Given the description of an element on the screen output the (x, y) to click on. 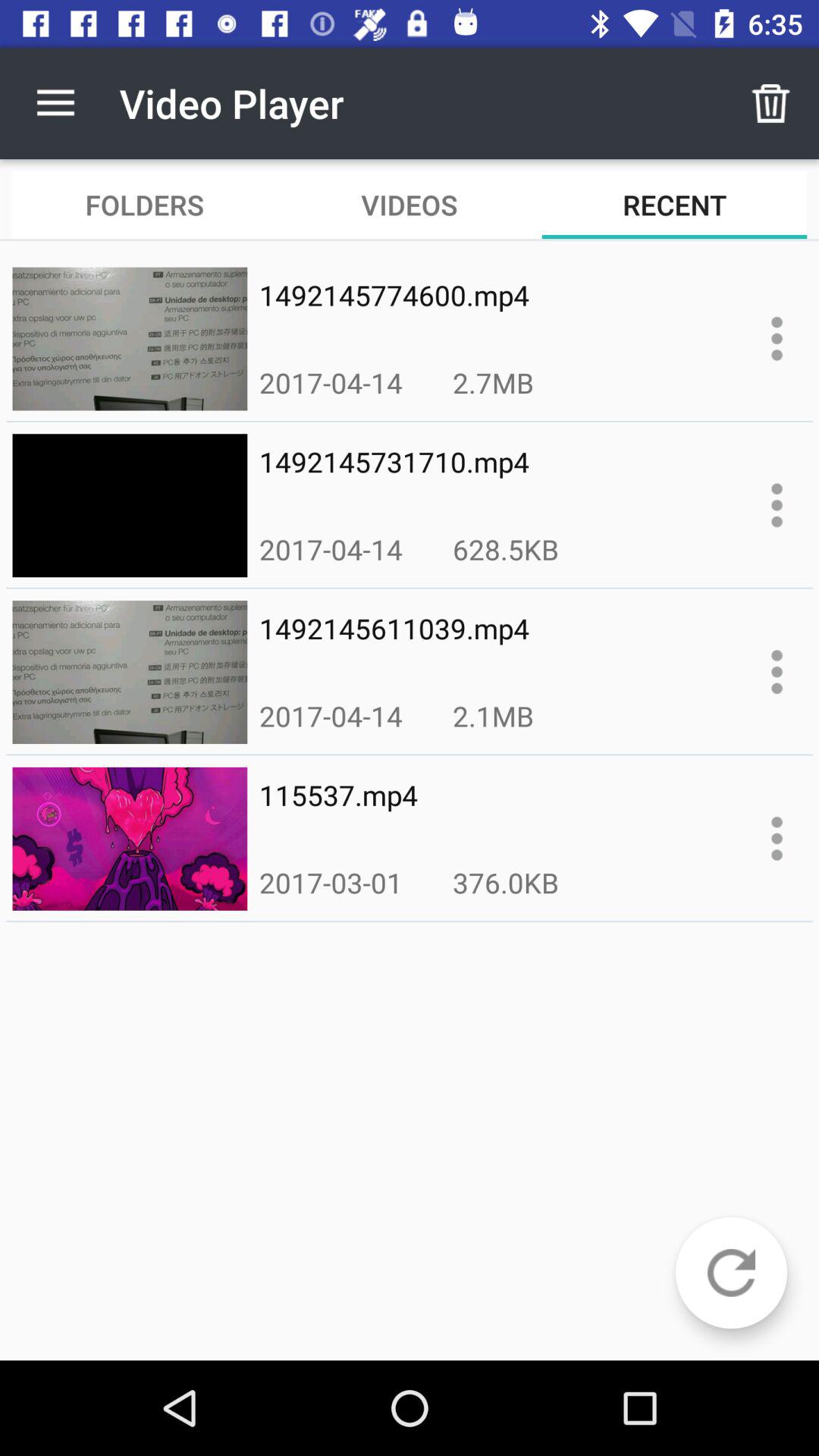
tap app next to the video player (55, 103)
